Given the description of an element on the screen output the (x, y) to click on. 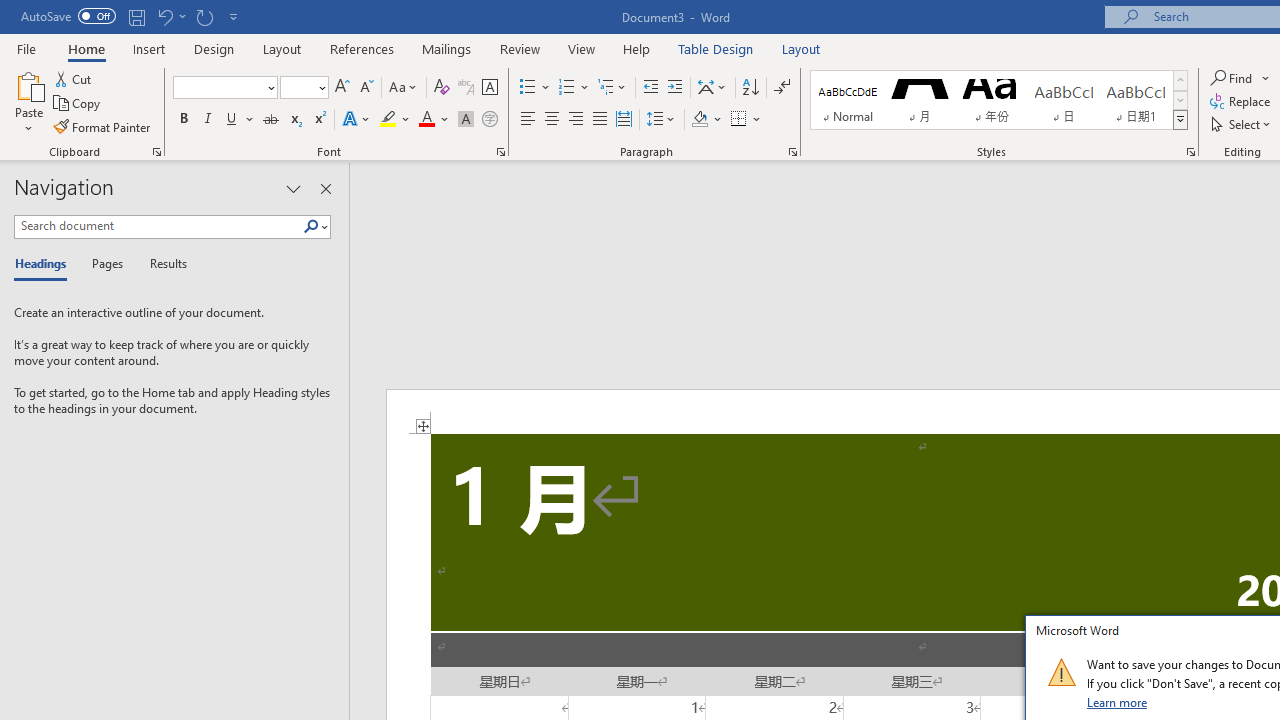
Paragraph... (792, 151)
Styles (1179, 120)
Text Effects and Typography (357, 119)
Table Design (715, 48)
Grow Font (342, 87)
Multilevel List (613, 87)
System (10, 11)
Pages (105, 264)
Font (218, 87)
Center (552, 119)
Search (311, 227)
Copy (78, 103)
Numbering (566, 87)
Customize Quick Access Toolbar (234, 15)
